Given the description of an element on the screen output the (x, y) to click on. 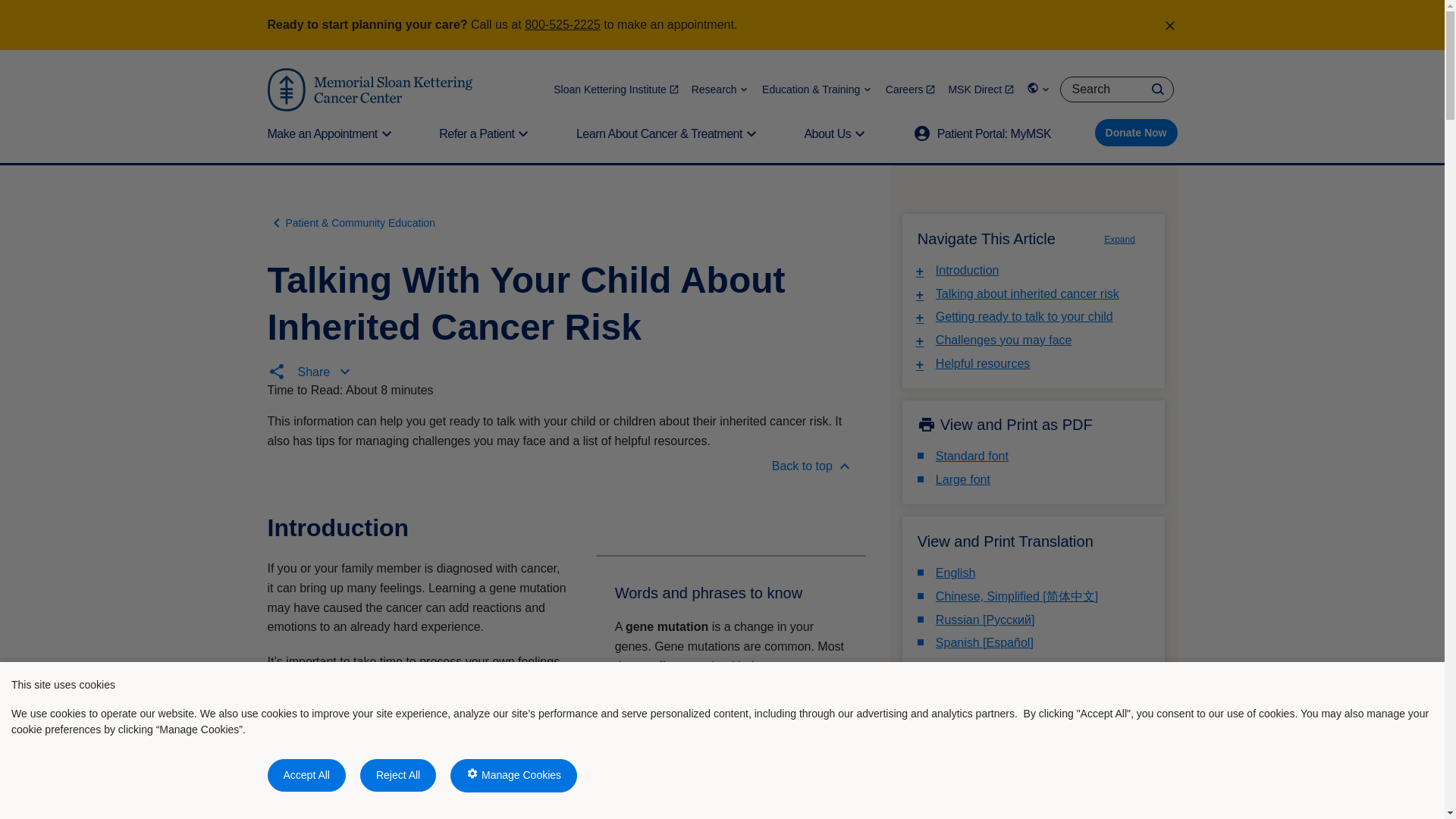
Manage Cookies (512, 775)
Research (720, 89)
Insert a query. Press enter to send (1115, 88)
800-525-2225 (561, 24)
Accept All (305, 775)
Donate Now (1135, 132)
Sloan Kettering Institute (615, 89)
Reject All (397, 775)
